Given the description of an element on the screen output the (x, y) to click on. 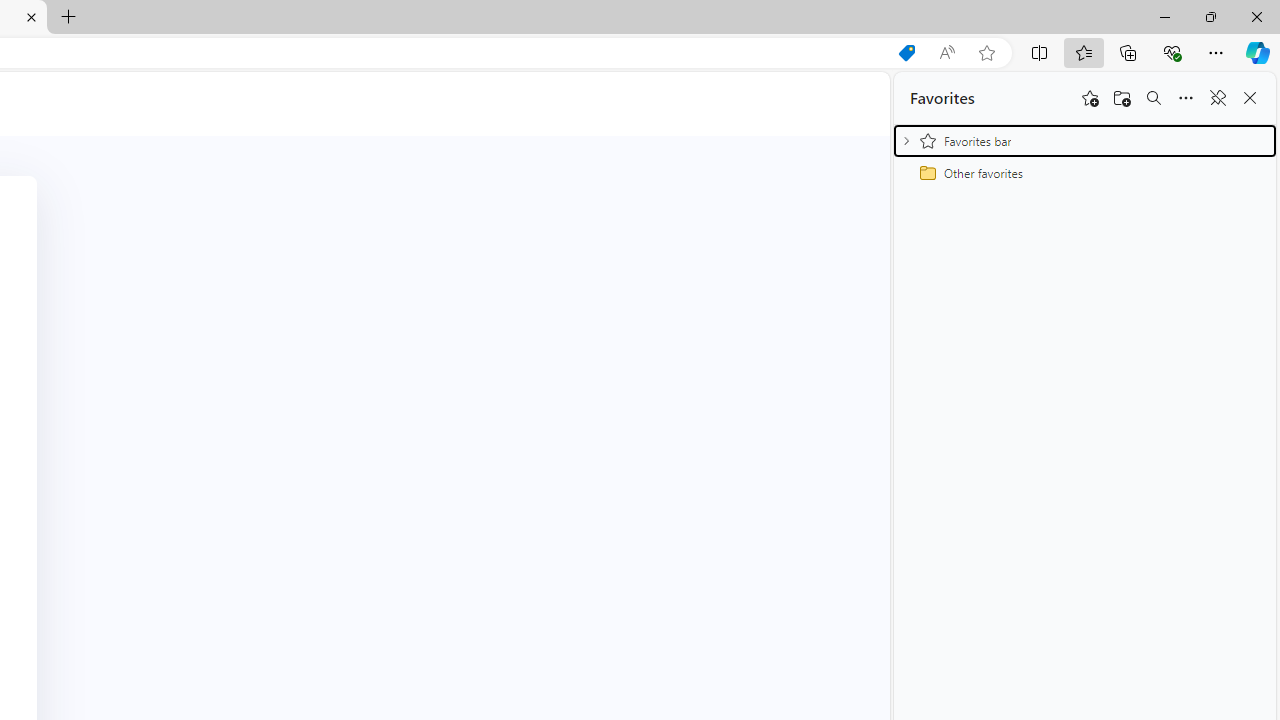
Unpin favorites (1217, 98)
Close favorites (1250, 98)
Search favorites (1153, 98)
Add this page to favorites (1089, 98)
Add folder (1122, 98)
